Given the description of an element on the screen output the (x, y) to click on. 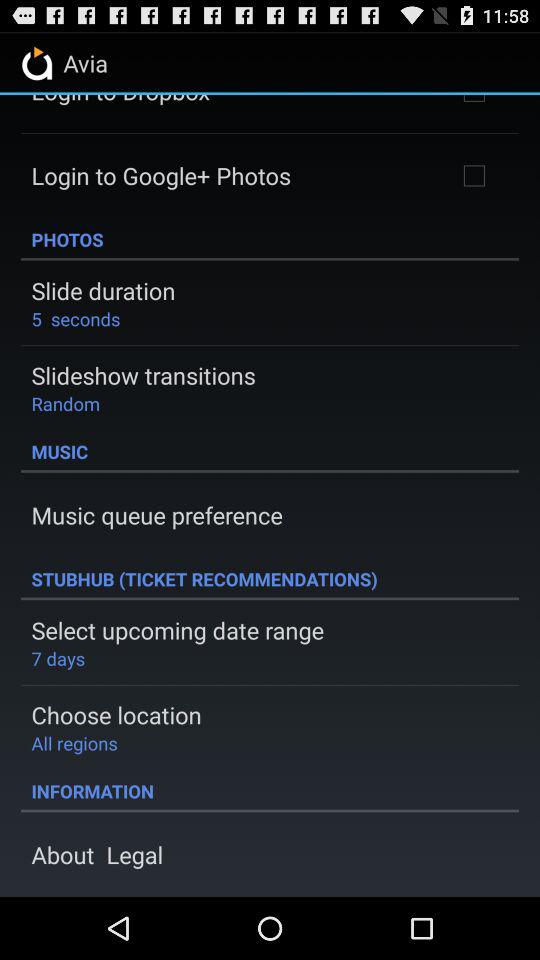
jump until information icon (270, 791)
